Given the description of an element on the screen output the (x, y) to click on. 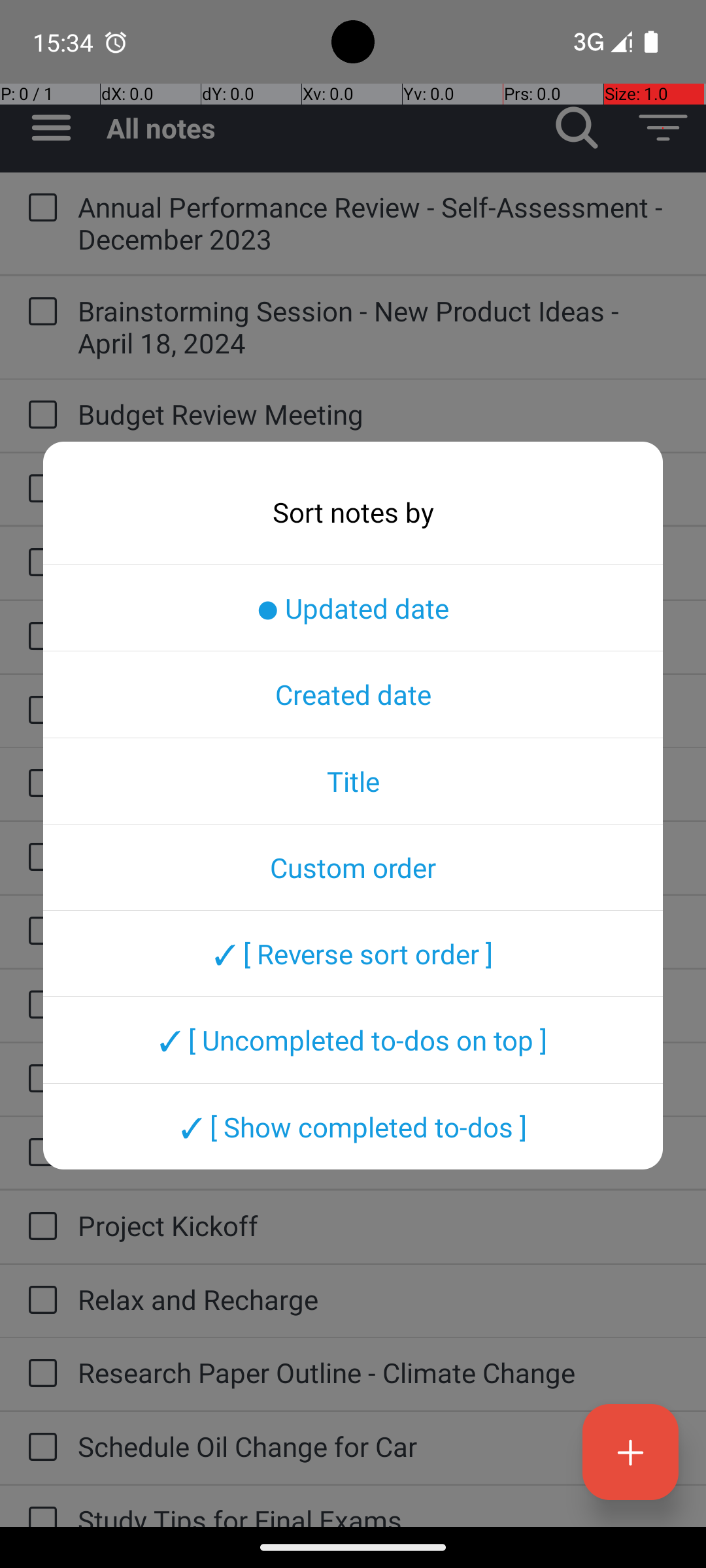
⬤ Updated date Element type: android.widget.TextView (352, 607)
Created date Element type: android.widget.TextView (352, 693)
Custom order Element type: android.widget.TextView (352, 866)
✓ [ Reverse sort order ] Element type: android.widget.TextView (352, 953)
✓ [ Uncompleted to-dos on top ] Element type: android.widget.TextView (352, 1039)
✓ [ Show completed to-dos ] Element type: android.widget.TextView (352, 1126)
to-do: Brainstorming Session - New Product Ideas - April 18, 2024 Element type: android.widget.CheckBox (38, 312)
Brainstorming Session - New Product Ideas - April 18, 2024 Element type: android.widget.TextView (378, 326)
to-do: Client Project Update Element type: android.widget.CheckBox (38, 563)
Client Project Update Element type: android.widget.TextView (378, 561)
to-do: Home Renovation Ideas Element type: android.widget.CheckBox (38, 636)
Home Renovation Ideas Element type: android.widget.TextView (378, 634)
to-do: Language Learning App Element type: android.widget.CheckBox (38, 710)
to-do: Medical History Element type: android.widget.CheckBox (38, 784)
to-do: Mental Health Support App Element type: android.widget.CheckBox (38, 931)
Mental Health Support App Element type: android.widget.TextView (378, 929)
to-do: Relax and Recharge Element type: android.widget.CheckBox (38, 1300)
Relax and Recharge Element type: android.widget.TextView (378, 1298)
to-do: Schedule Oil Change for Car Element type: android.widget.CheckBox (38, 1447)
Schedule Oil Change for Car Element type: android.widget.TextView (378, 1445)
to-do: Study Tips for Final Exams Element type: android.widget.CheckBox (38, 1505)
Study Tips for Final Exams Element type: android.widget.TextView (378, 1513)
